Given the description of an element on the screen output the (x, y) to click on. 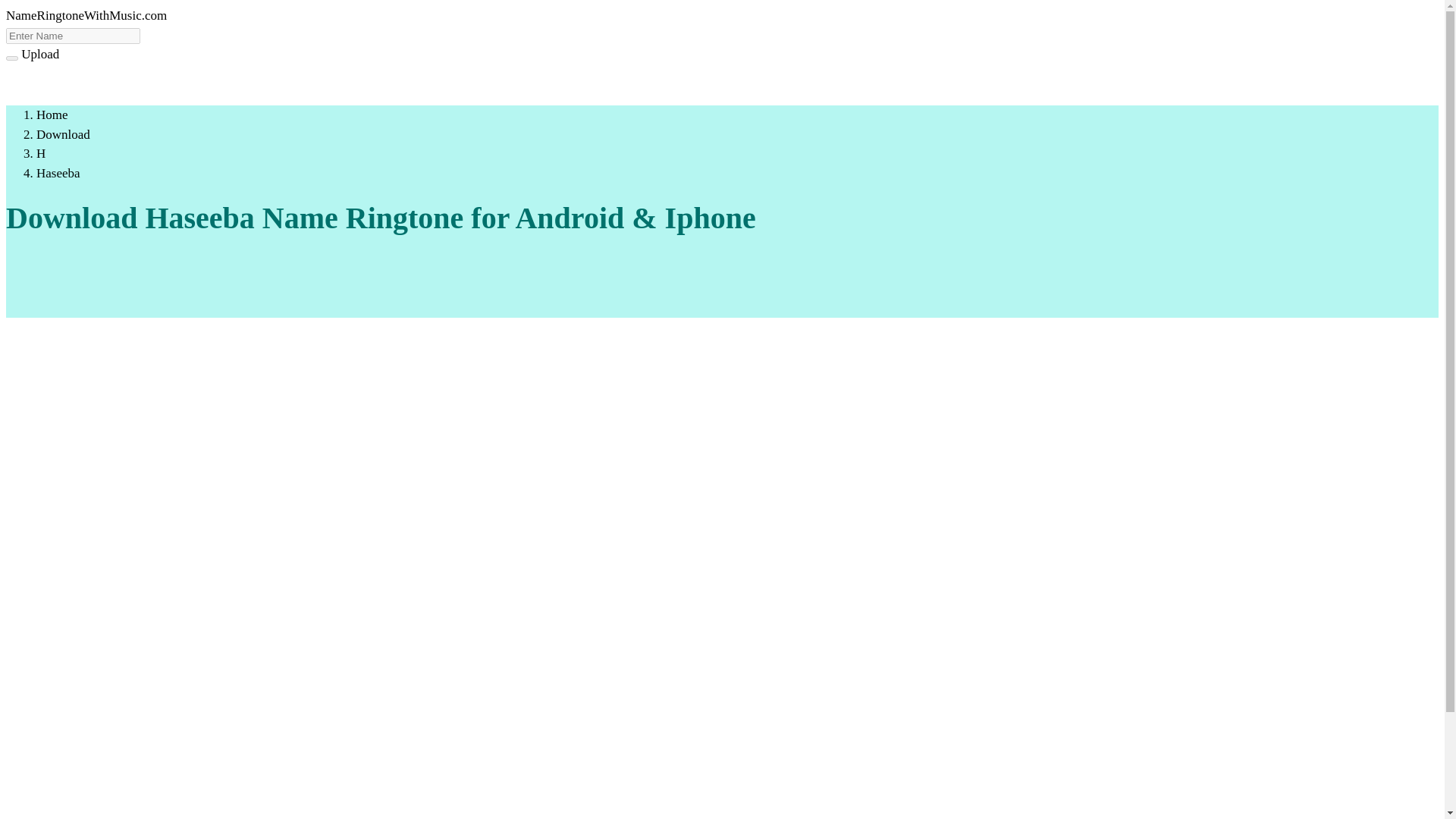
Background Music (100, 83)
Mummy Papa (356, 83)
Bhakti (30, 83)
NameRingtoneWithMusic.com (86, 15)
Home (52, 114)
Dj Remix (219, 83)
Hindi (304, 83)
English (267, 83)
fdmr (86, 15)
Calling (171, 83)
Download (63, 134)
Upload (40, 53)
